Given the description of an element on the screen output the (x, y) to click on. 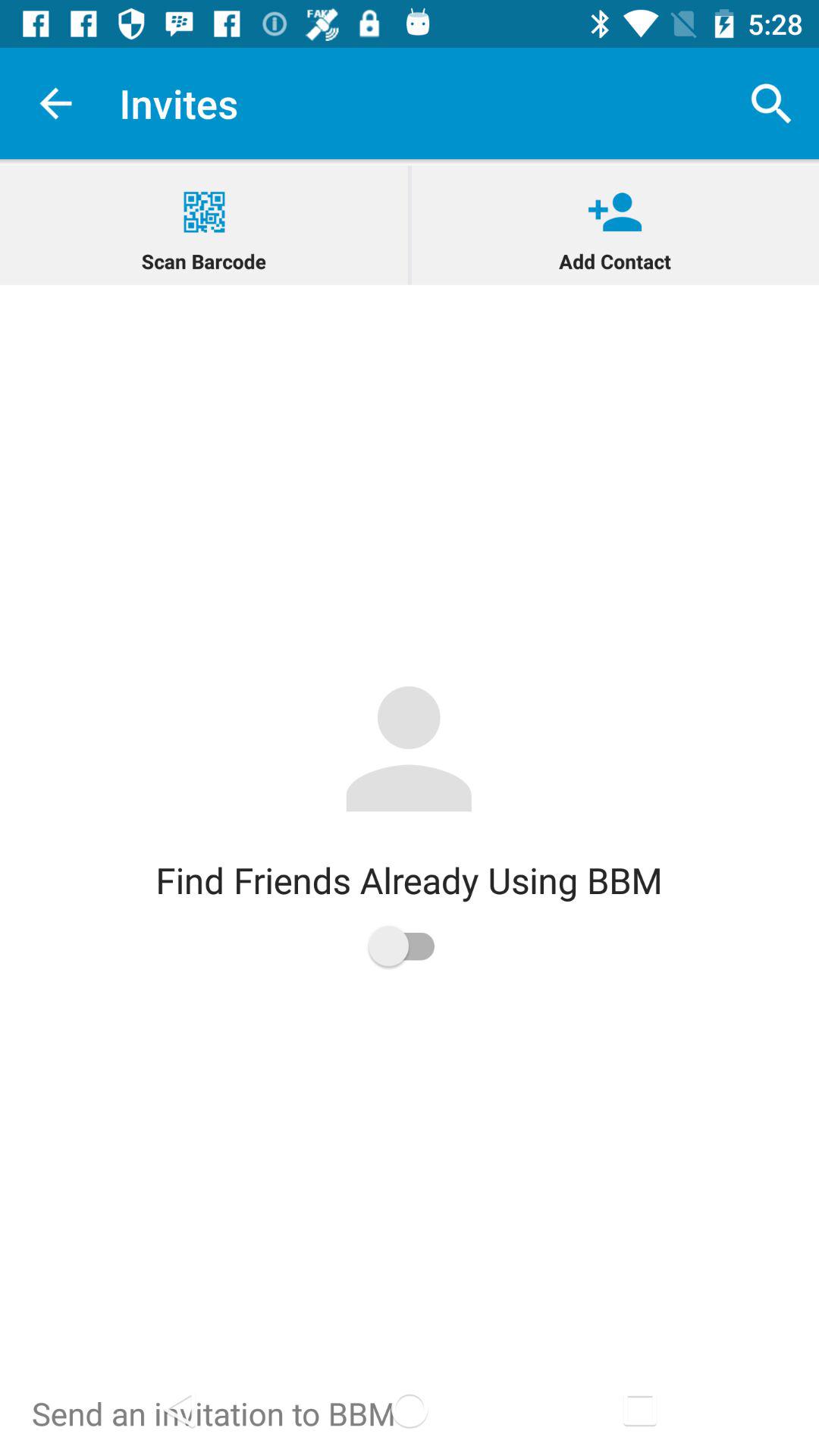
select item below the find friends already icon (408, 945)
